Given the description of an element on the screen output the (x, y) to click on. 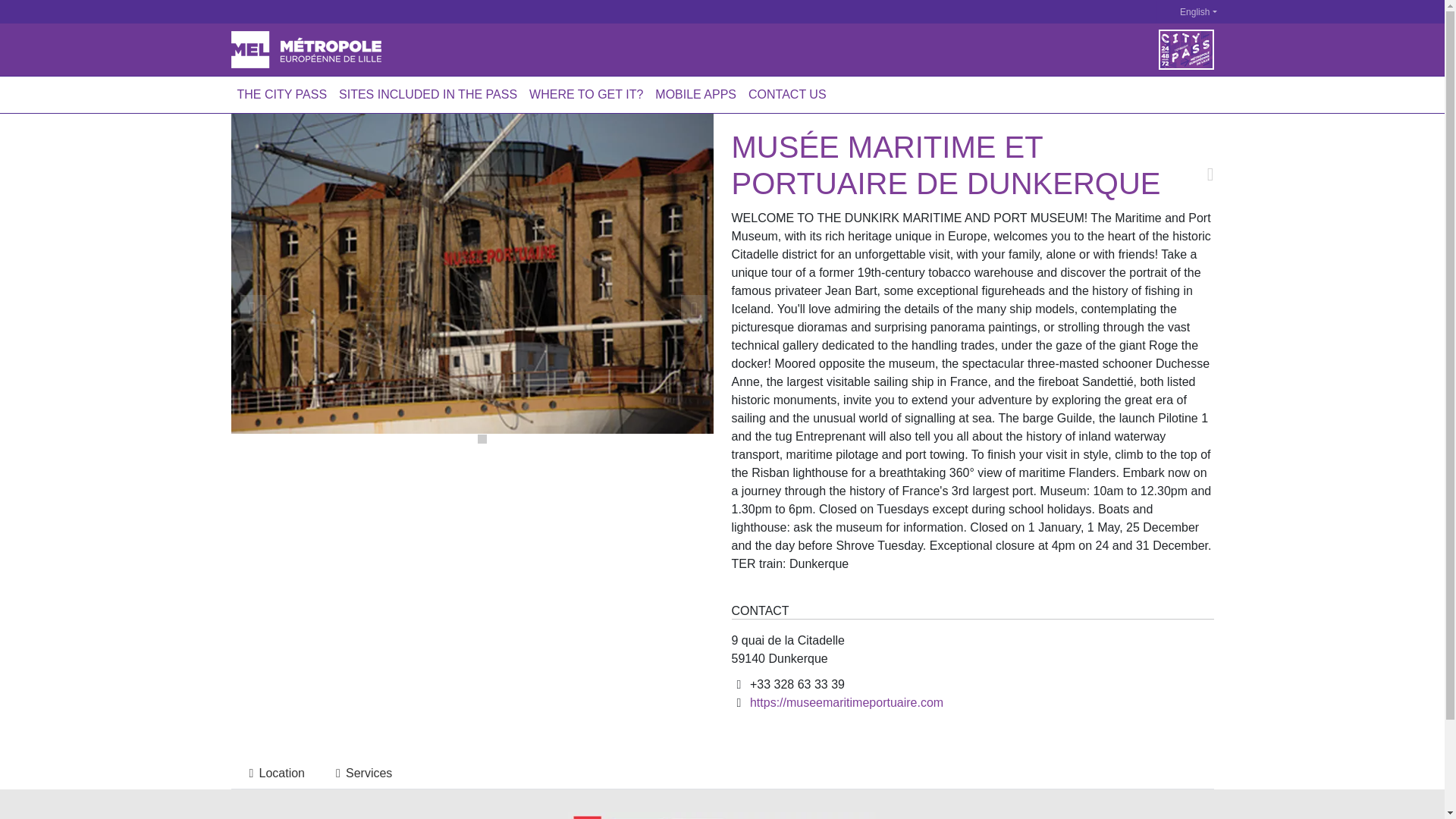
THE CITY PASS (281, 94)
WHERE TO GET IT? (585, 94)
MOBILE APPS (695, 94)
Location (273, 773)
 English (1189, 11)
SITES INCLUDED IN THE PASS (427, 94)
Services (360, 773)
Lille City Pass (305, 49)
CONTACT US (787, 94)
